Given the description of an element on the screen output the (x, y) to click on. 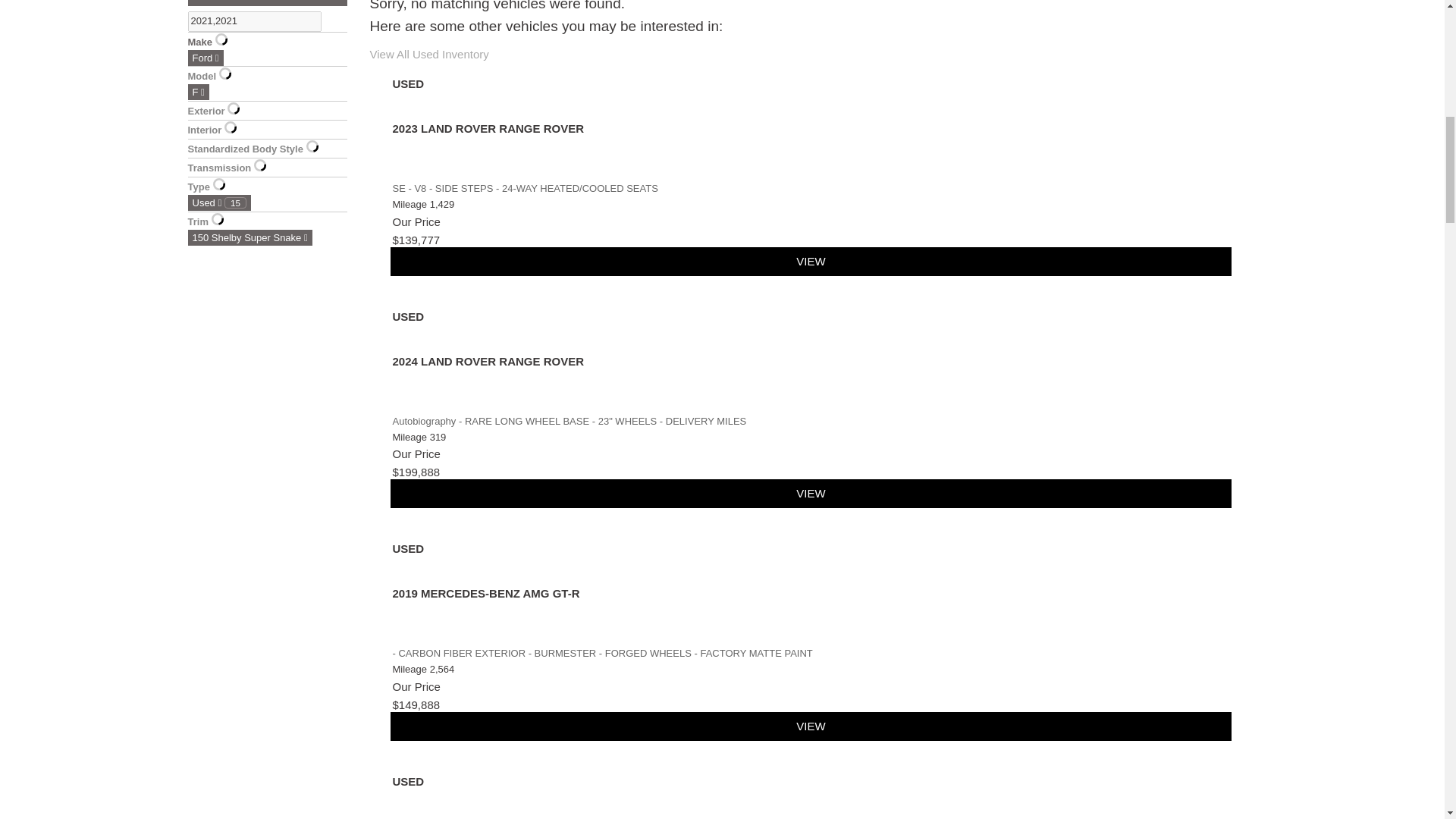
Trim (569, 420)
Trim (525, 188)
2021,2021 (254, 21)
Trim (602, 653)
